Given the description of an element on the screen output the (x, y) to click on. 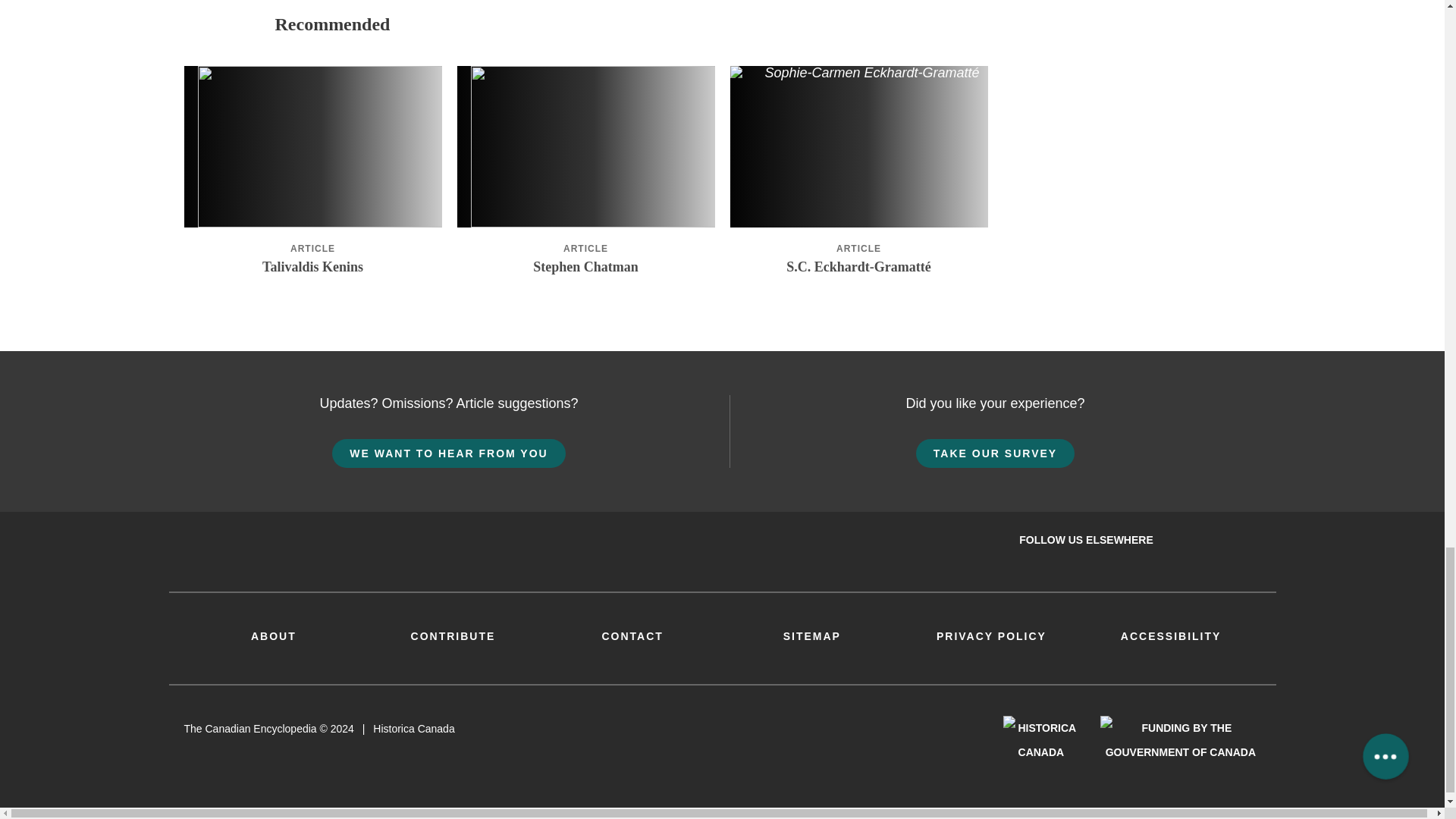
Funding by the gouvernment of Canada (1180, 739)
Historica Canada (1040, 739)
